Given the description of an element on the screen output the (x, y) to click on. 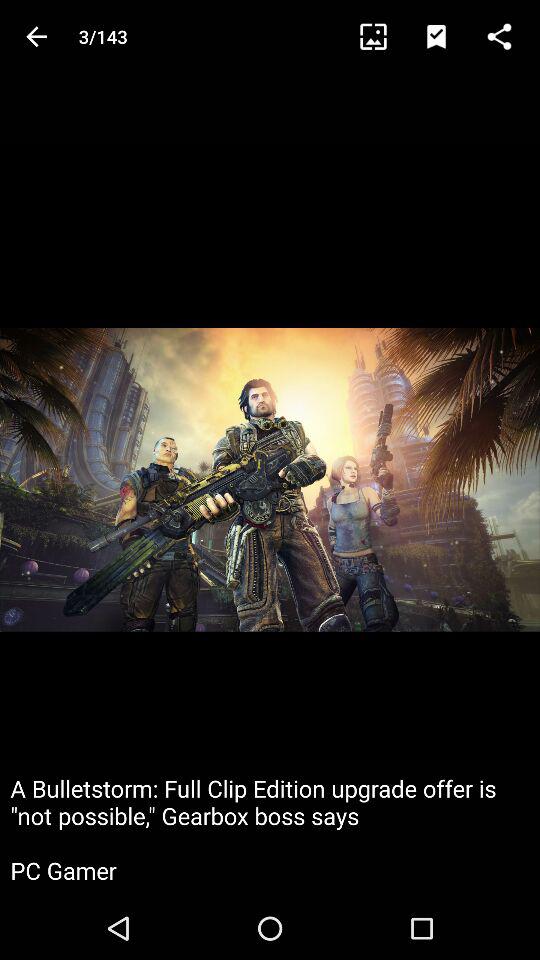
crop image (382, 36)
